Given the description of an element on the screen output the (x, y) to click on. 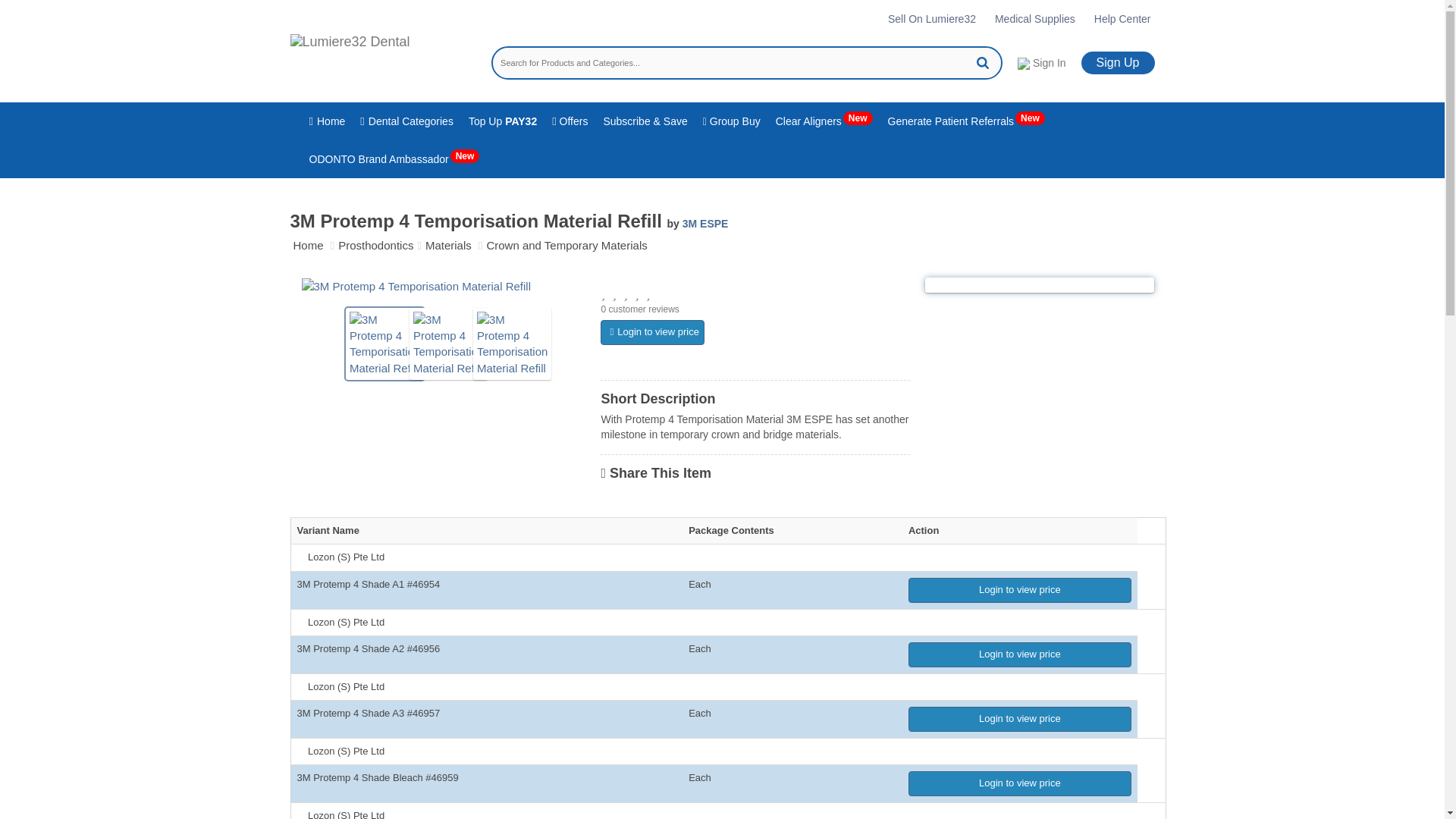
Help Center (1122, 18)
Medical Supplies (1034, 18)
Sign In (1041, 61)
Sell On Lumiere32 (931, 18)
3M Protemp 4 Temporisation Material Refill (384, 343)
Sign Up (1117, 62)
3M Protemp 4 Temporisation Material Refill (512, 343)
3M Protemp 4 Temporisation Material Refill (416, 286)
Home (327, 121)
Lumiere32 Dental (349, 56)
